Given the description of an element on the screen output the (x, y) to click on. 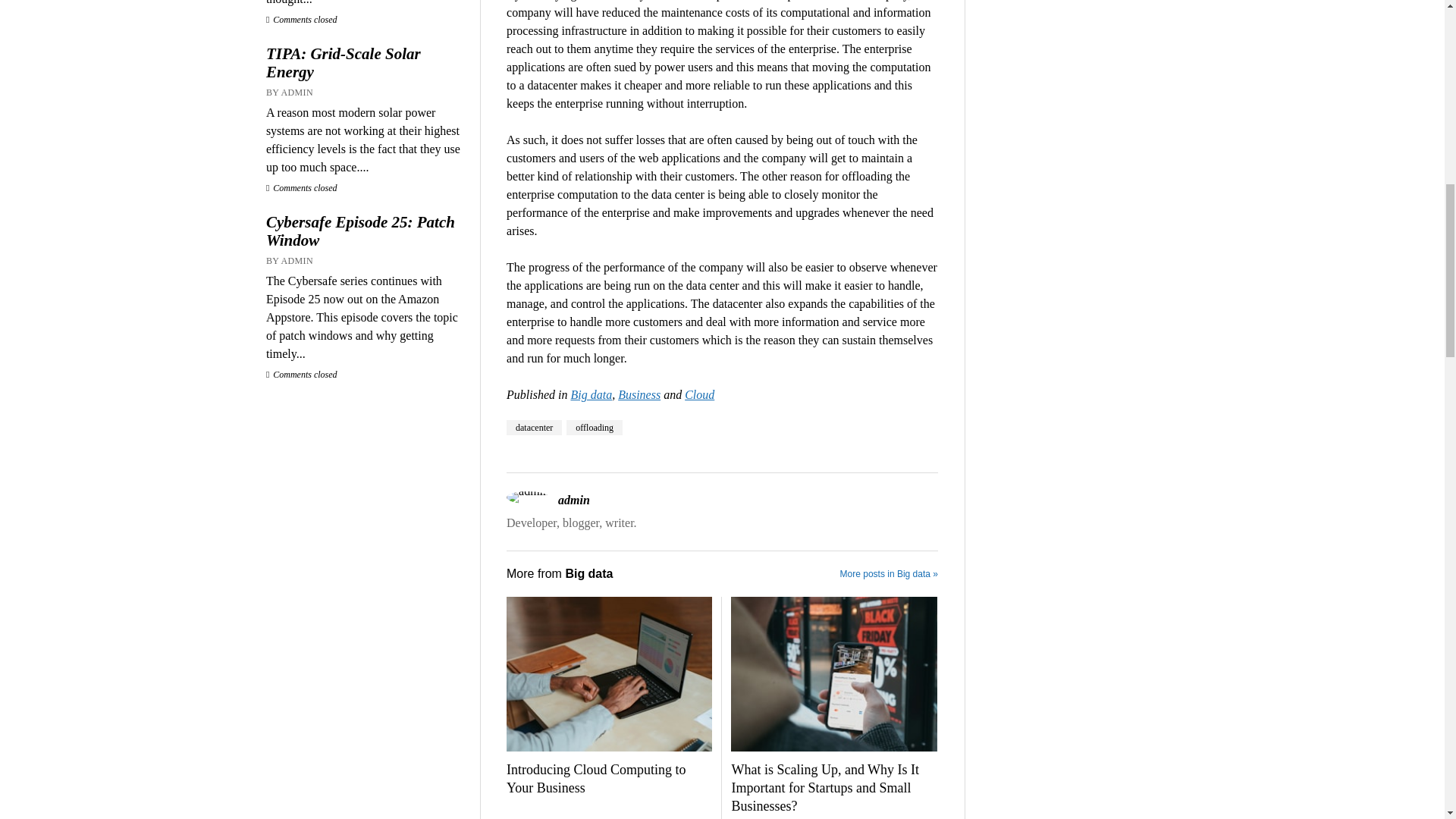
Introducing Cloud Computing to Your Business (608, 779)
offloading (594, 427)
Business (639, 394)
Big data (590, 394)
Cloud (699, 394)
TIPA: Grid-Scale Solar Energy (365, 63)
View all posts in Big data (590, 394)
datacenter (534, 427)
Cybersafe Episode 25: Patch Window (365, 230)
